Given the description of an element on the screen output the (x, y) to click on. 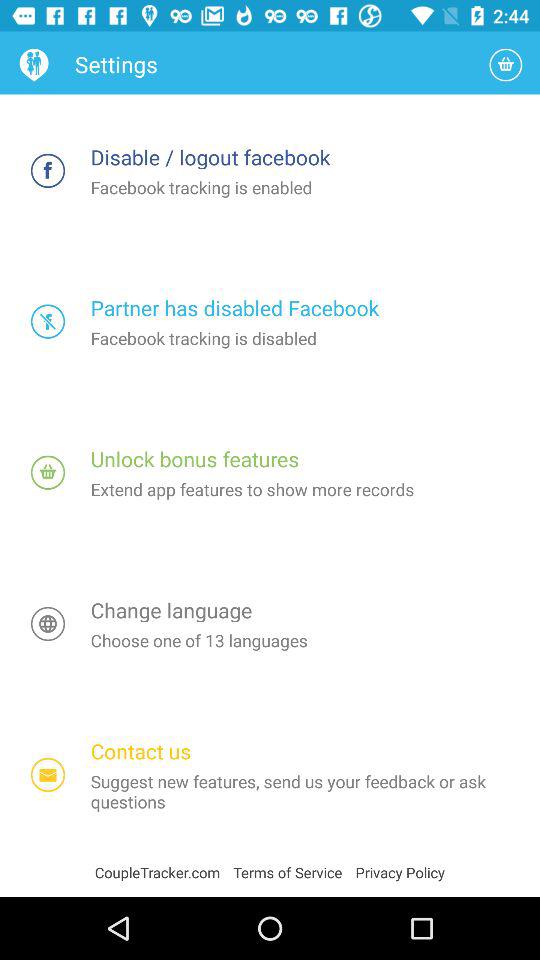
open the item above coupletracker.com item (47, 774)
